Given the description of an element on the screen output the (x, y) to click on. 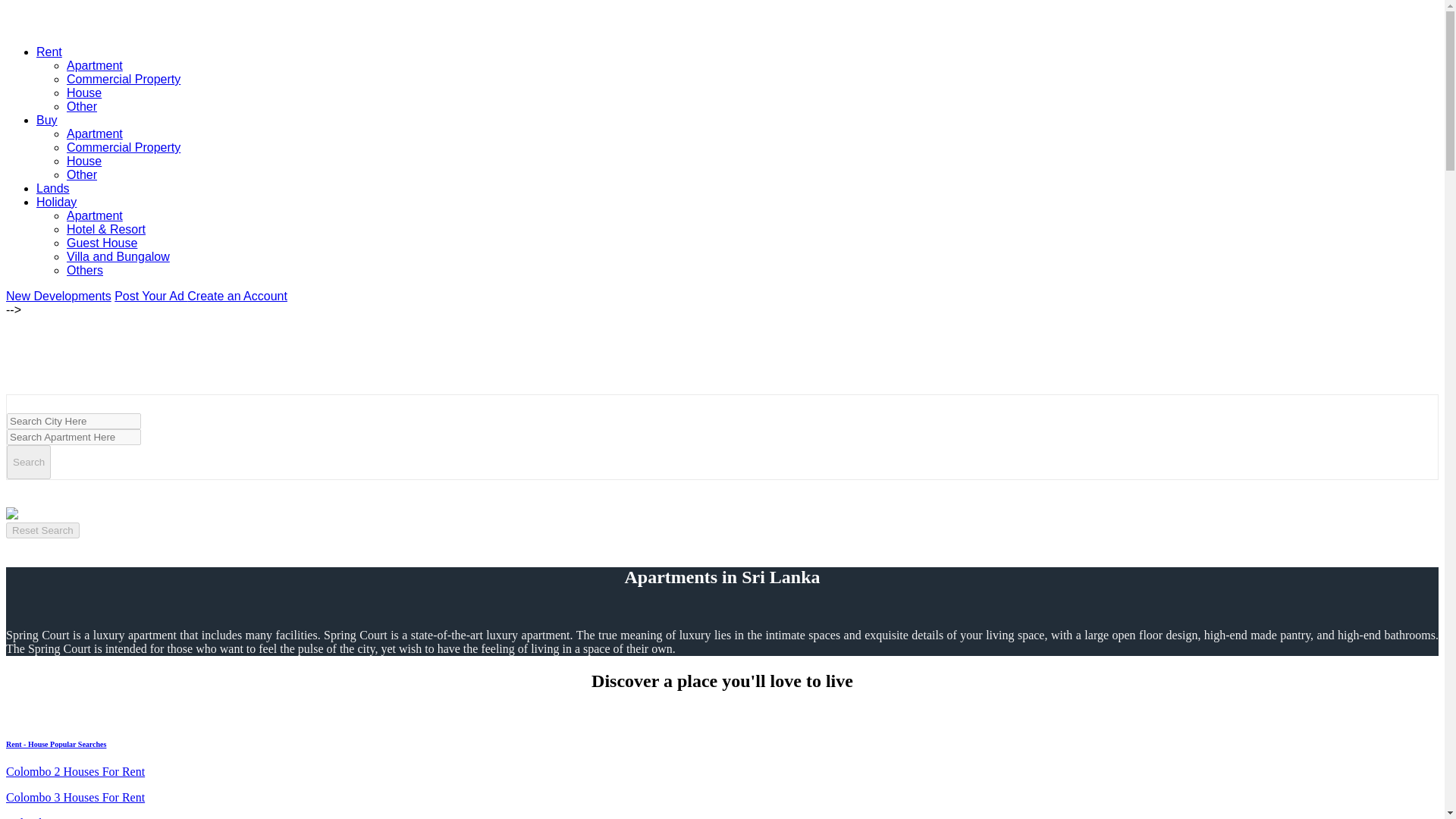
Lands (52, 187)
Colombo 4 Houses For Rent (74, 817)
Commercial Property (123, 78)
Guest House (101, 242)
Other (81, 106)
Buy (47, 119)
Apartment (94, 215)
Other (81, 174)
Commercial Property (123, 146)
House (83, 160)
